Given the description of an element on the screen output the (x, y) to click on. 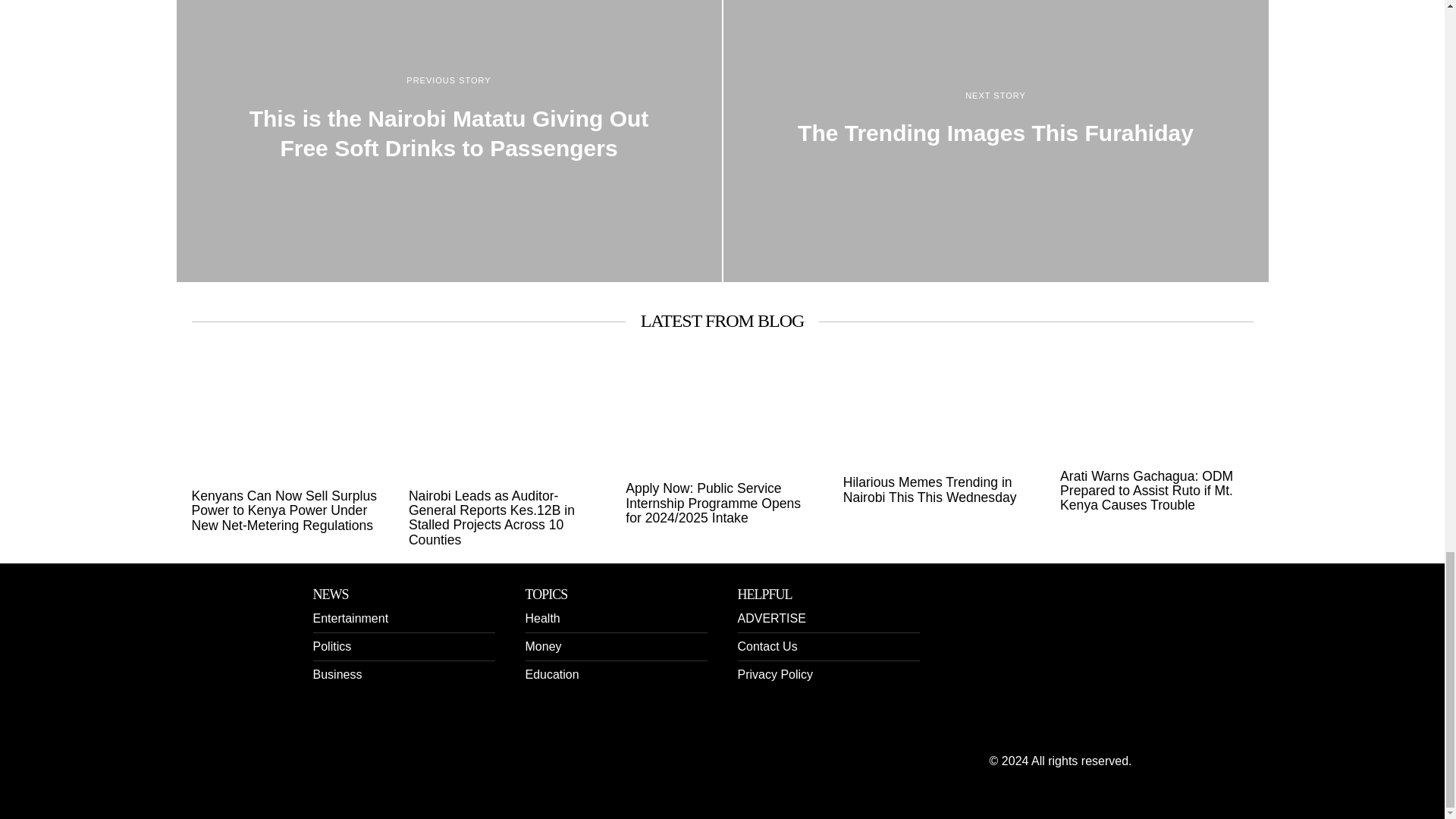
Health (541, 617)
Business (337, 674)
Entertainment (350, 617)
Hilarious Memes Trending in Nairobi This This Wednesday (939, 490)
Politics (331, 645)
